Given the description of an element on the screen output the (x, y) to click on. 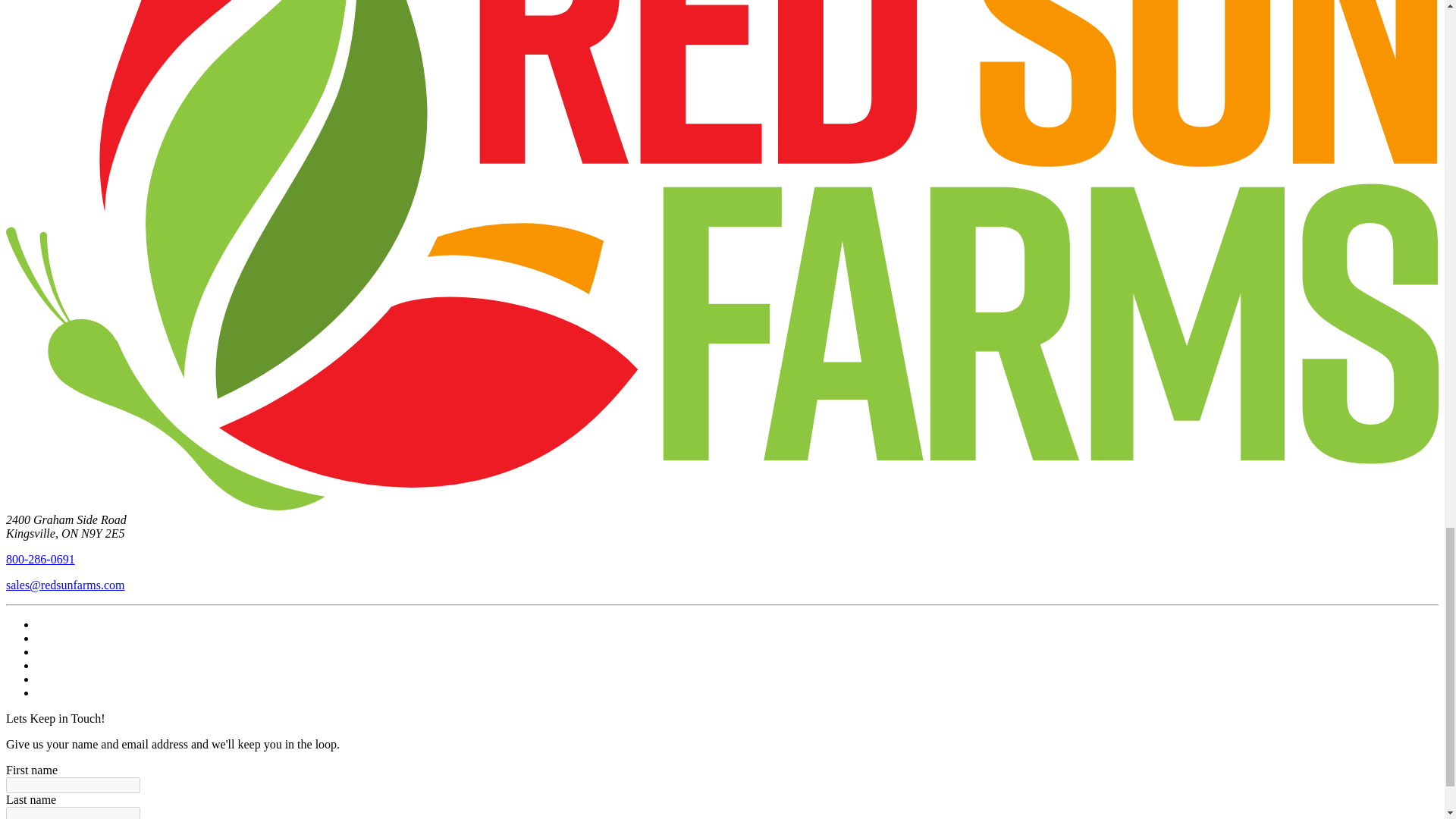
800-286-0691 (40, 558)
